Given the description of an element on the screen output the (x, y) to click on. 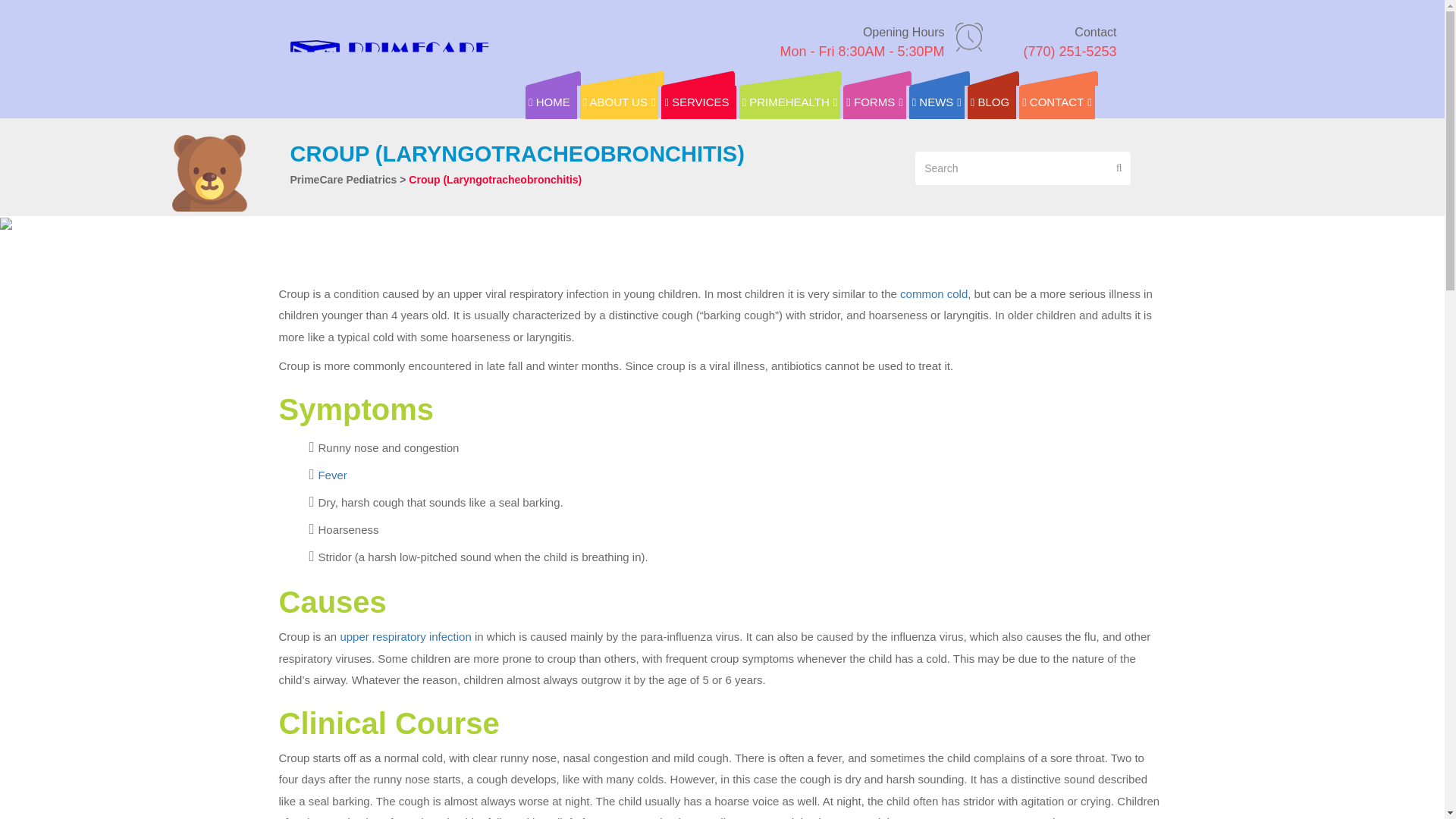
Go to PrimeCare Pediatrics. (860, 41)
PRIMEHEALTH (342, 179)
HOME (790, 101)
ABOUT US (550, 101)
SERVICES (619, 101)
